Given the description of an element on the screen output the (x, y) to click on. 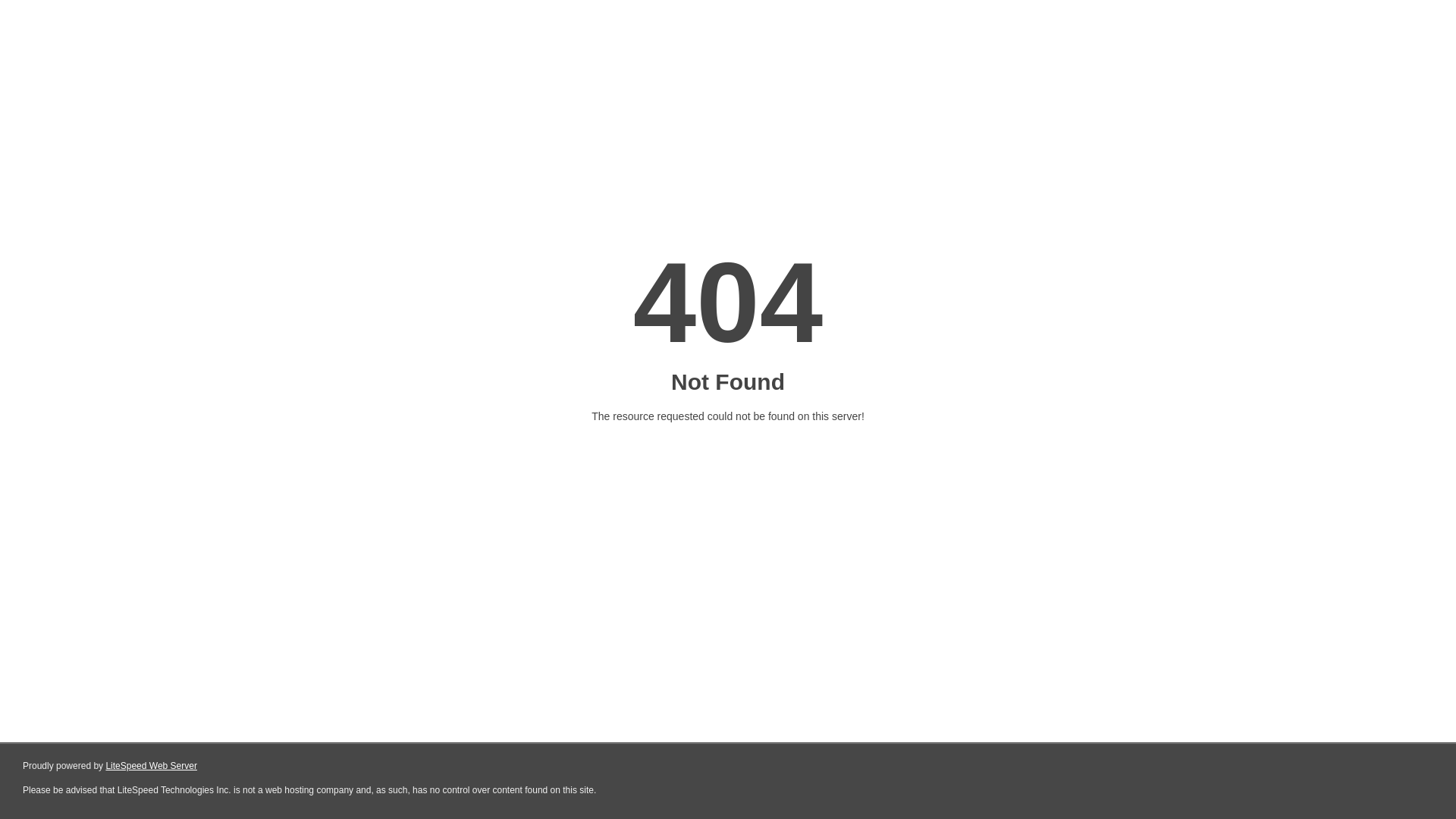
LiteSpeed Web Server Element type: text (151, 765)
